Given the description of an element on the screen output the (x, y) to click on. 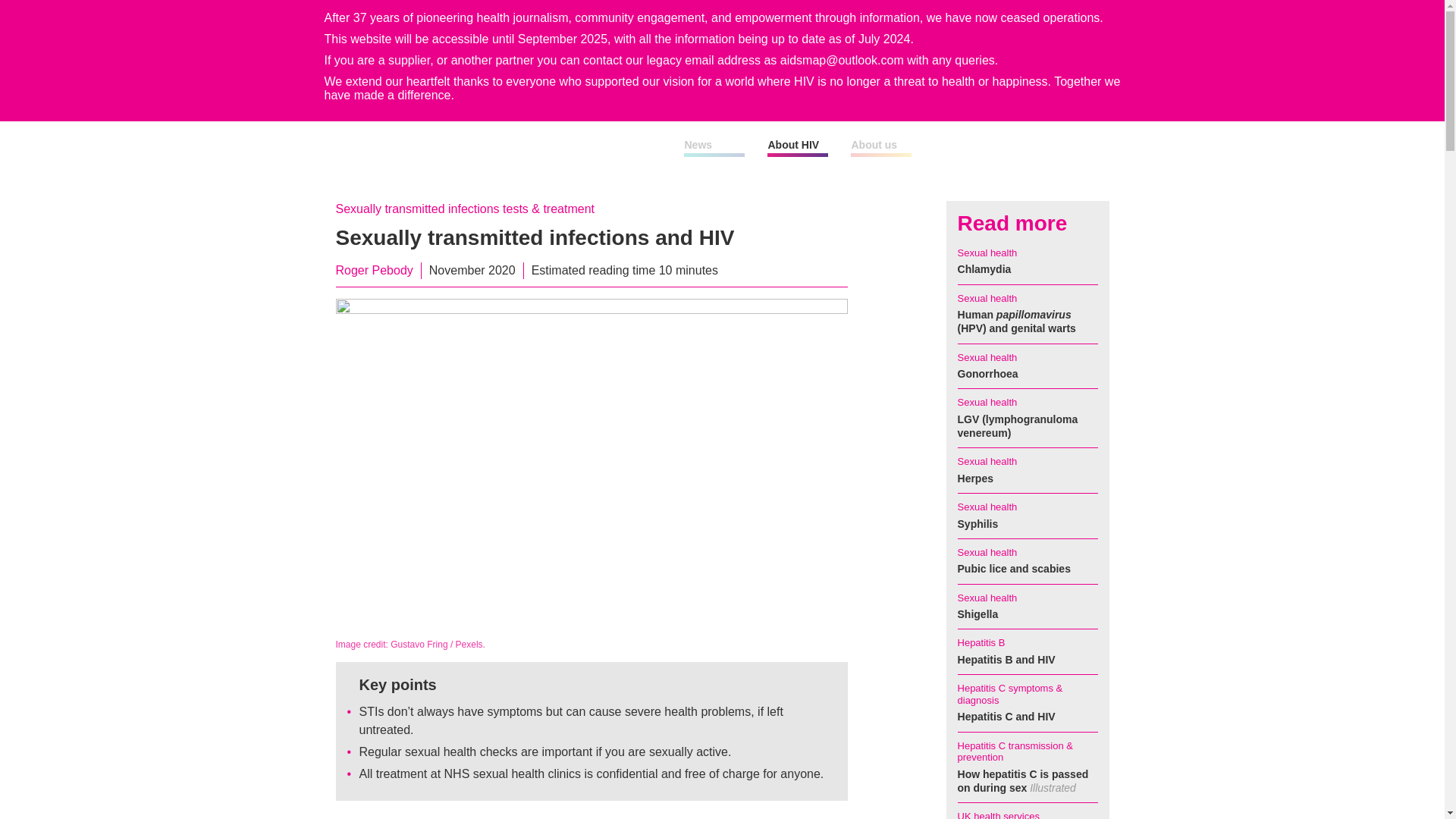
Home (509, 147)
News (697, 144)
About us (873, 144)
Roger Pebody (373, 269)
About HIV (792, 144)
